Given the description of an element on the screen output the (x, y) to click on. 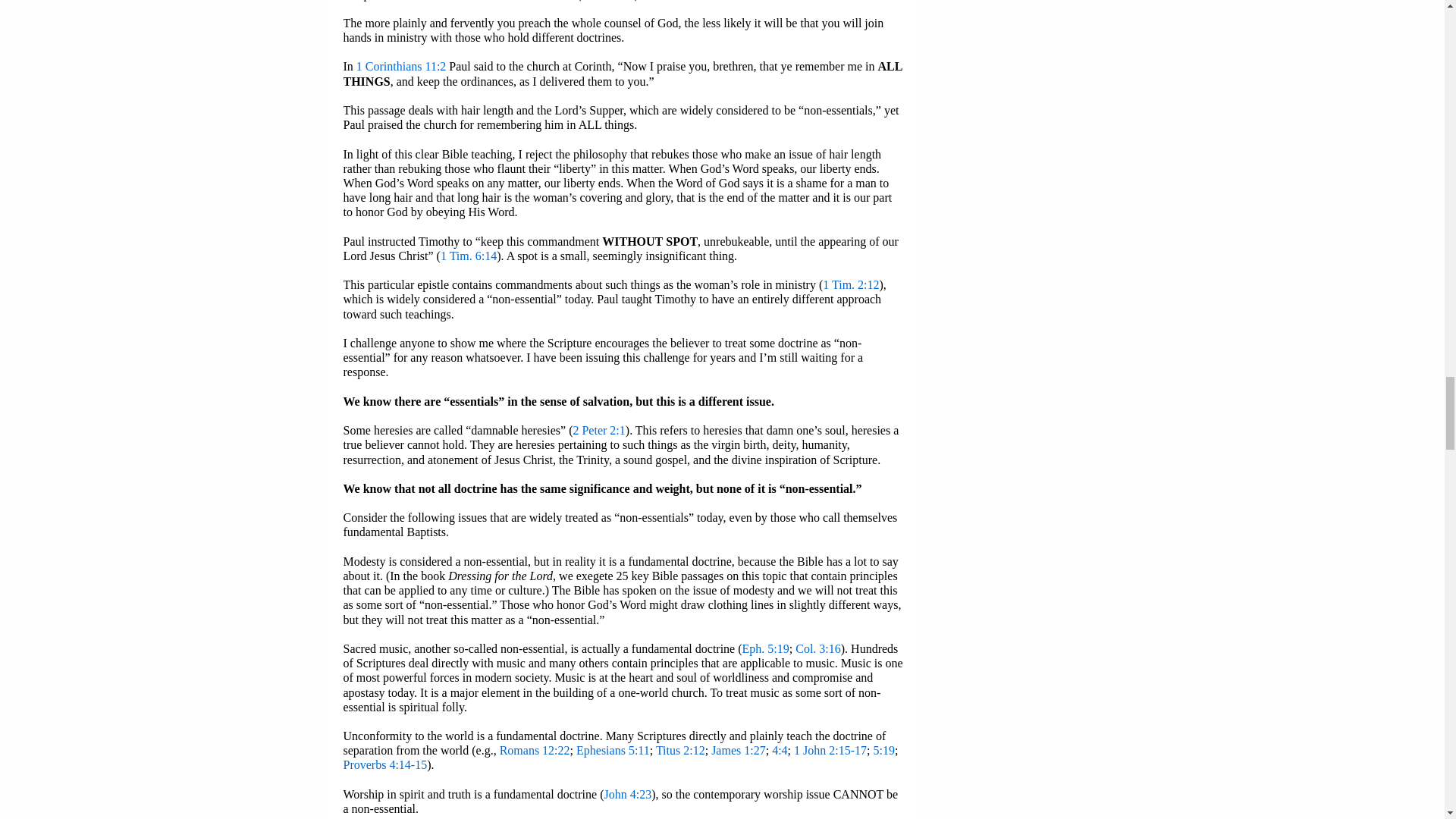
1 Tim. 2:12 (850, 284)
Ephesians 5:11 (612, 749)
Col. 3:16 (817, 648)
Eph. 5:19 (765, 648)
2 Peter 2:1 (598, 430)
Acts 20:27 (607, 0)
Romans 12:22 (534, 749)
1 Corinthians 11:2 (401, 65)
1 Tim. 6:14 (468, 255)
